Given the description of an element on the screen output the (x, y) to click on. 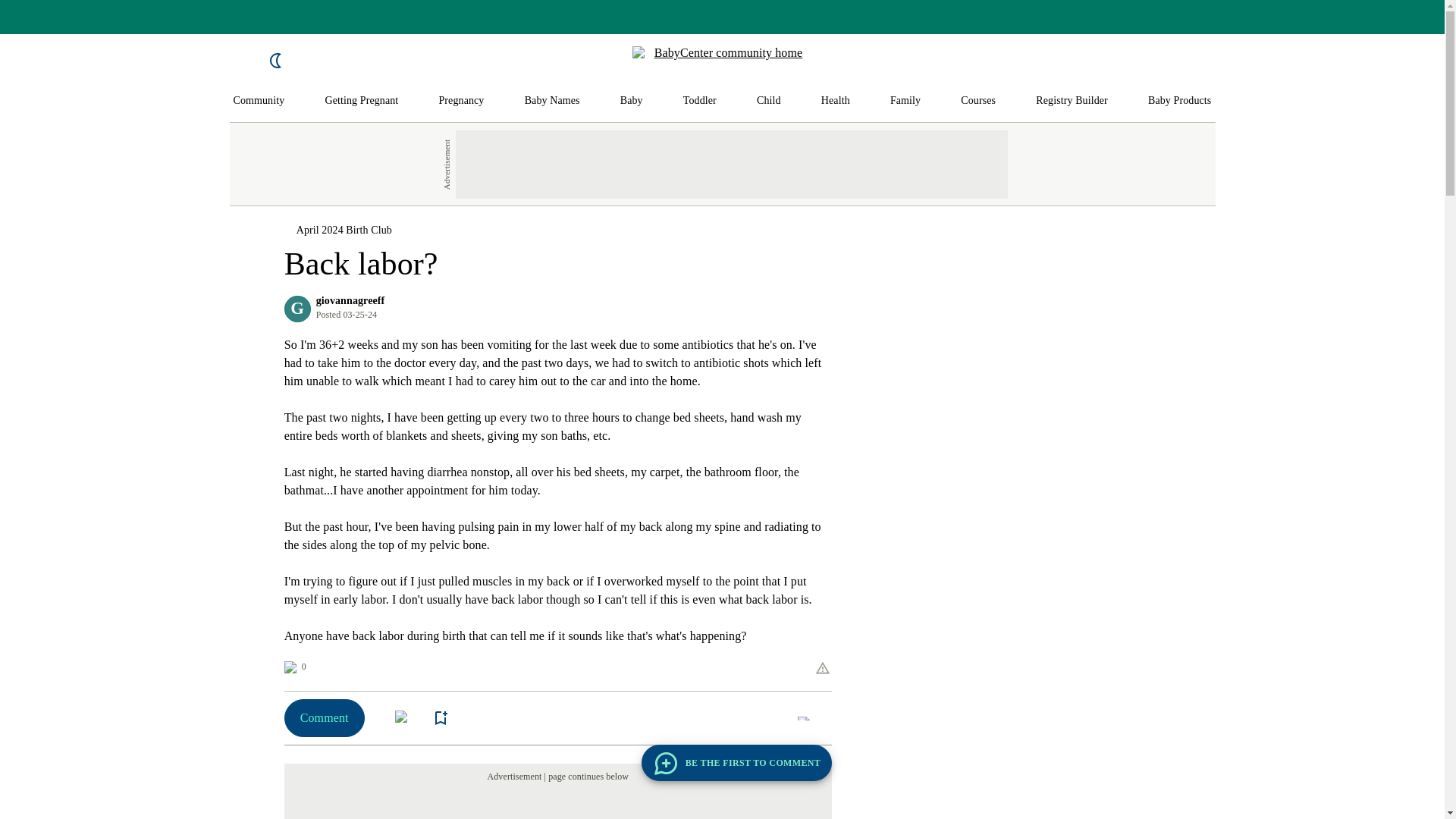
Health (835, 101)
Getting Pregnant (360, 101)
Child (768, 101)
Baby Products (1179, 101)
Baby Names (551, 101)
Registry Builder (1071, 101)
Toddler (699, 101)
Pregnancy (460, 101)
Community (258, 101)
Family (904, 101)
